Given the description of an element on the screen output the (x, y) to click on. 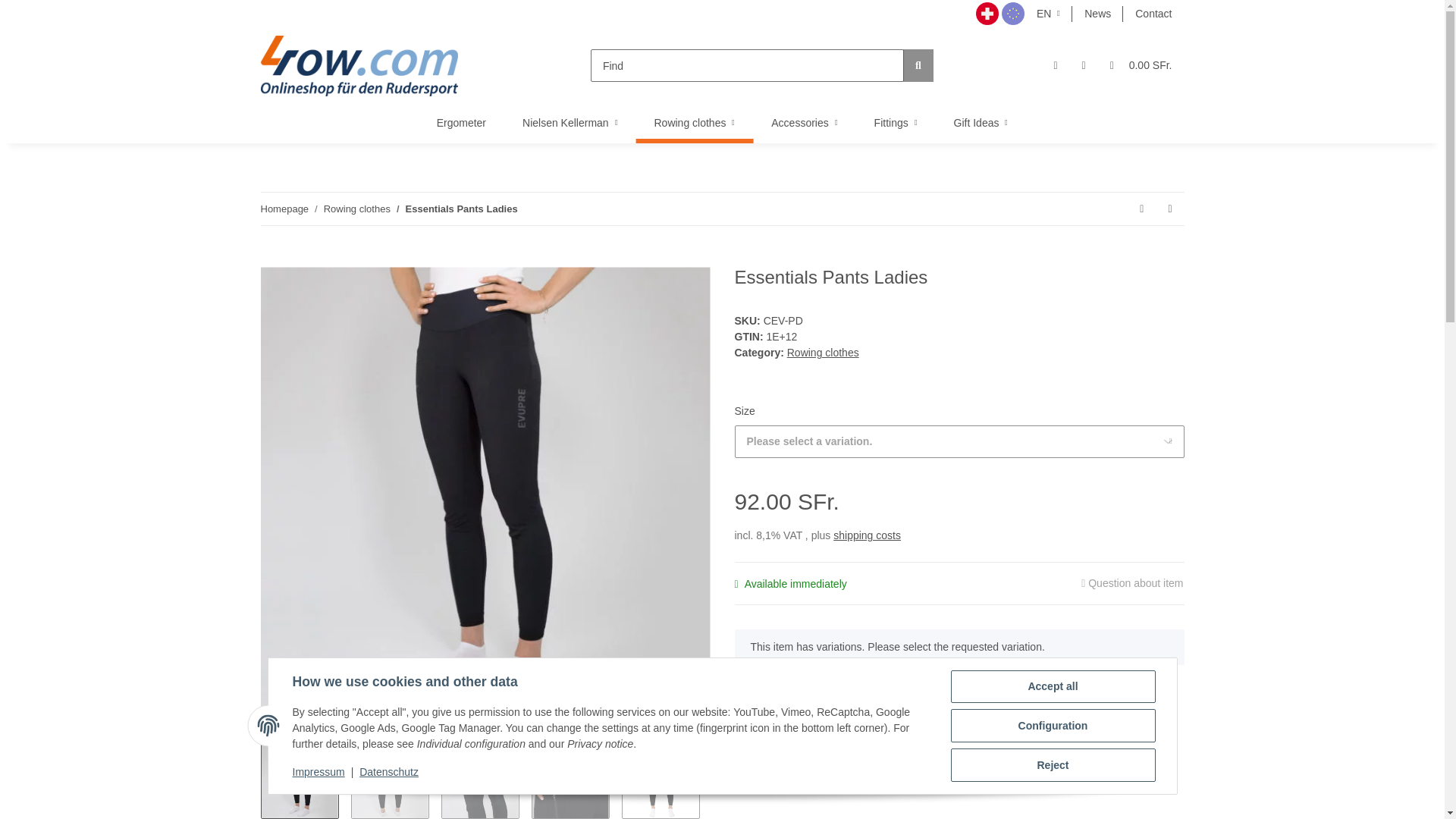
Ergometer (461, 123)
Fittings (896, 123)
Gift Ideas (981, 123)
Accessories (804, 123)
Contact (1152, 13)
Homepage (284, 209)
News (1096, 13)
Nielsen Kellerman (568, 123)
EN (1048, 13)
